Given the description of an element on the screen output the (x, y) to click on. 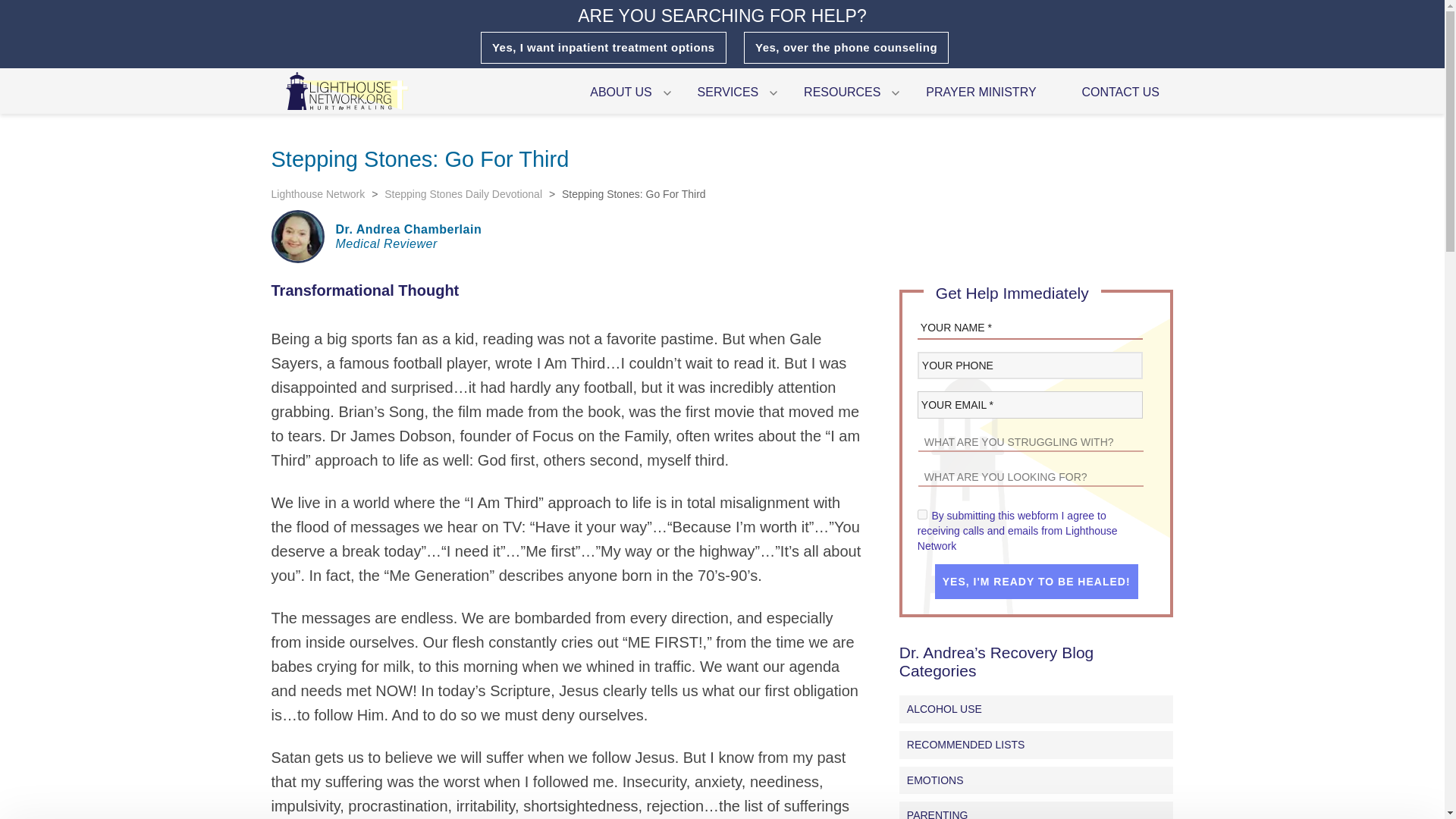
1 (922, 514)
Yes, I'm ready to be healed! (1036, 581)
Go to Lighthouse Network. (317, 193)
